Given the description of an element on the screen output the (x, y) to click on. 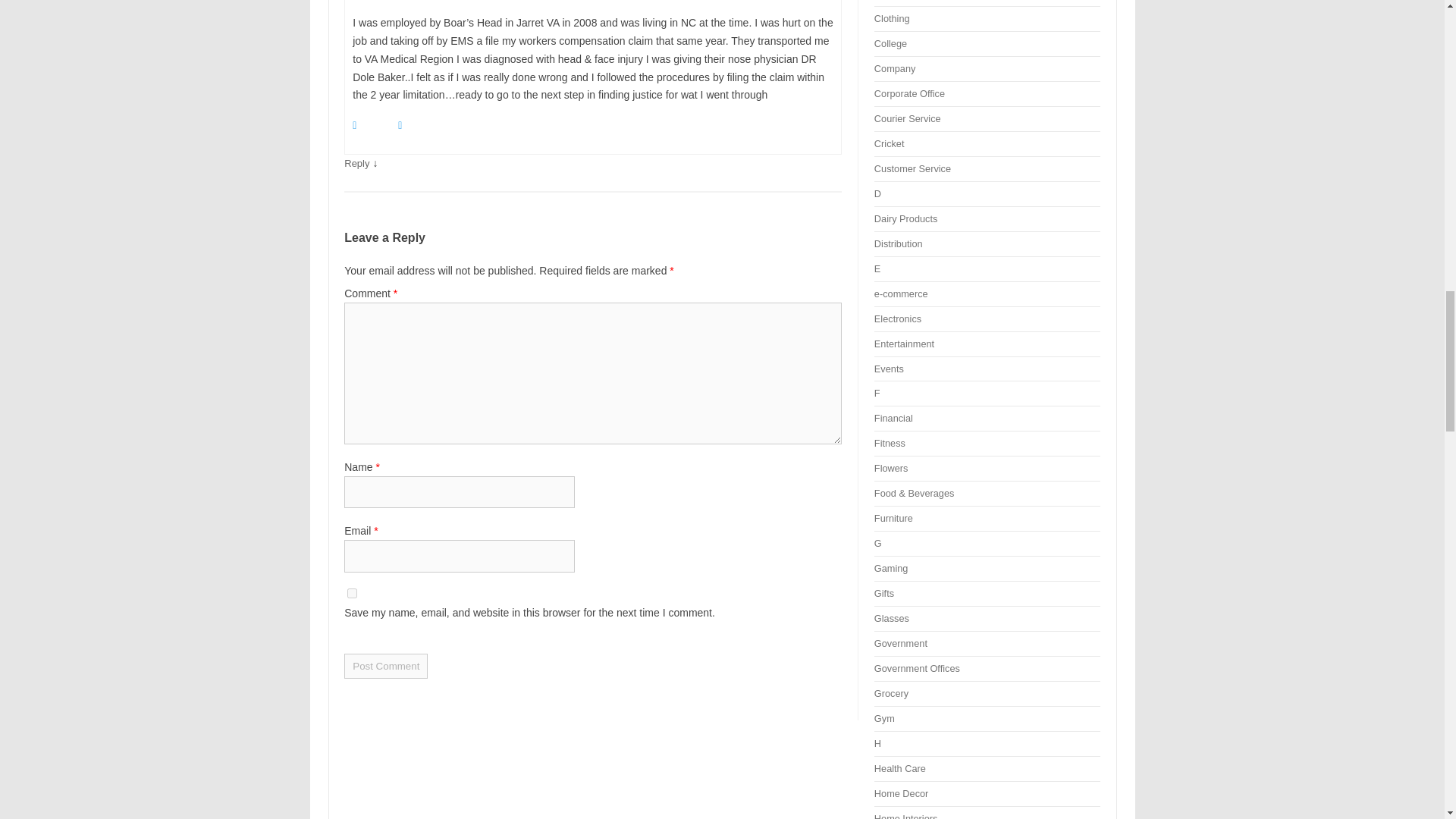
Post Comment (385, 665)
yes (351, 593)
Post Comment (385, 665)
Reply (356, 163)
